Given the description of an element on the screen output the (x, y) to click on. 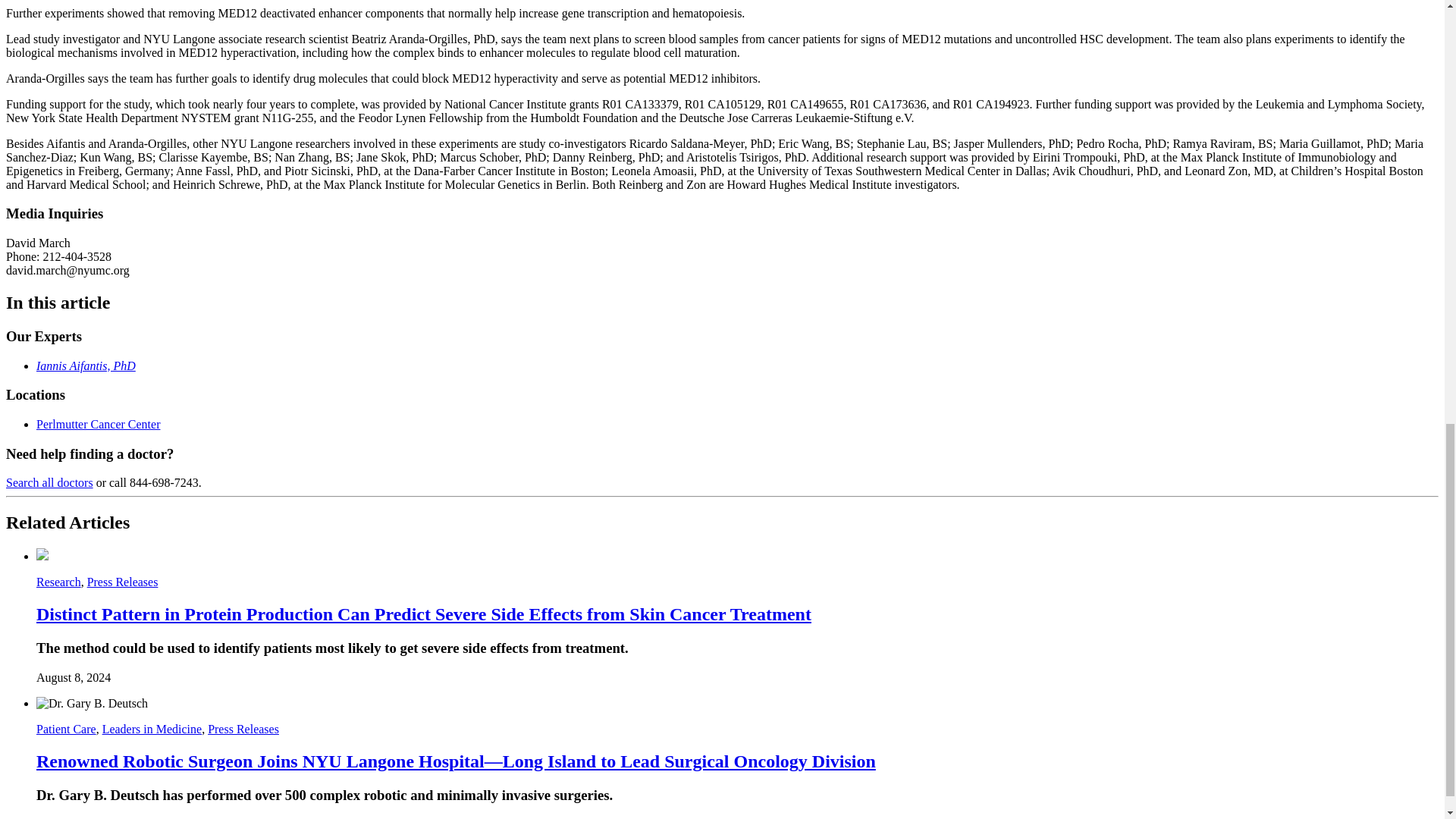
Press Releases (243, 728)
Research (58, 581)
Perlmutter Cancer Center (98, 423)
Press Releases (122, 581)
Leaders in Medicine (151, 728)
Search all doctors (49, 481)
Patient Care (66, 728)
Iannis Aifantis, PhD (85, 365)
